Given the description of an element on the screen output the (x, y) to click on. 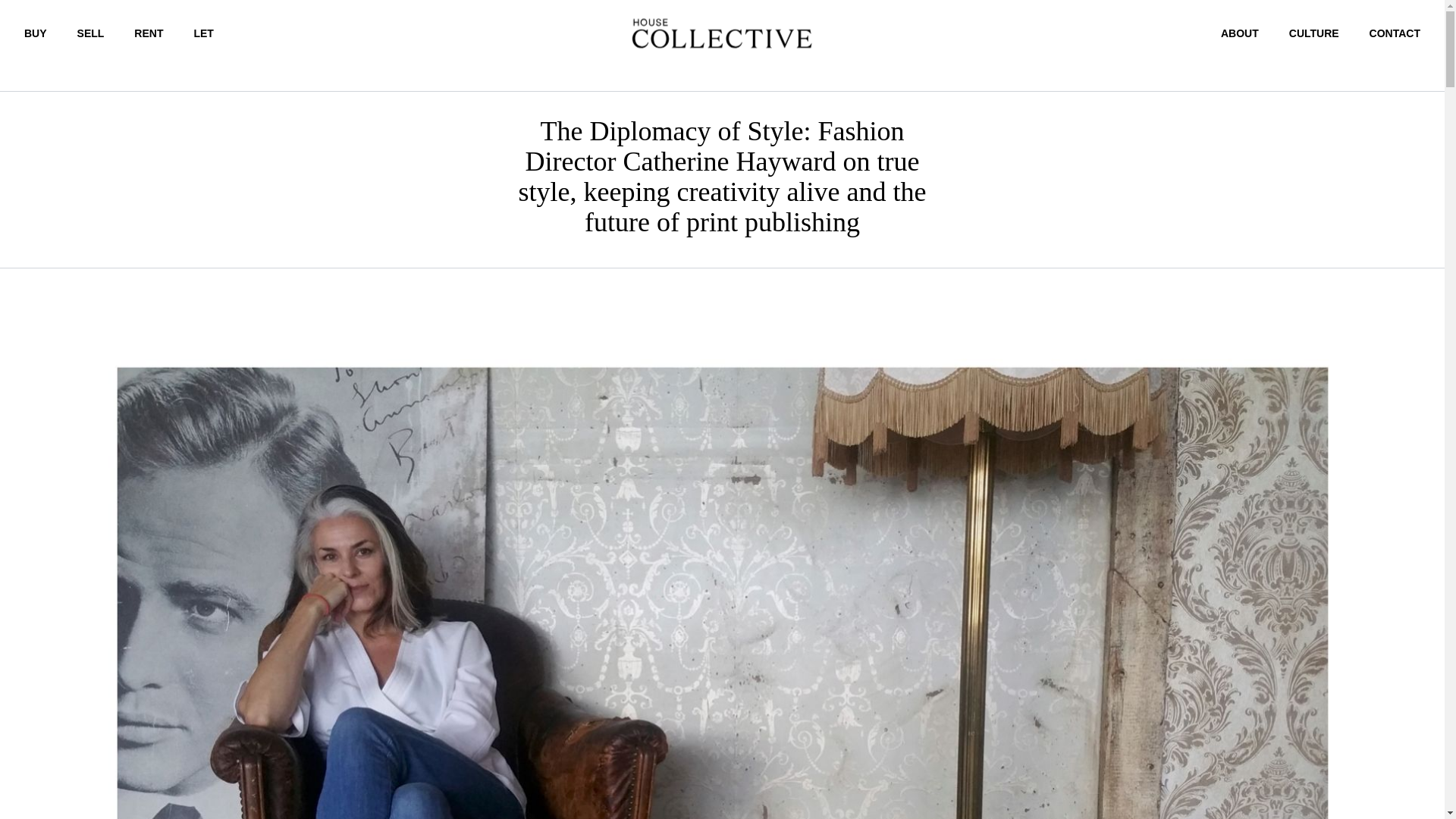
CONTACT (1395, 32)
RENT (148, 33)
LET (202, 33)
CULTURE (1313, 32)
SELL (90, 33)
ABOUT (1240, 32)
BUY (35, 33)
